Given the description of an element on the screen output the (x, y) to click on. 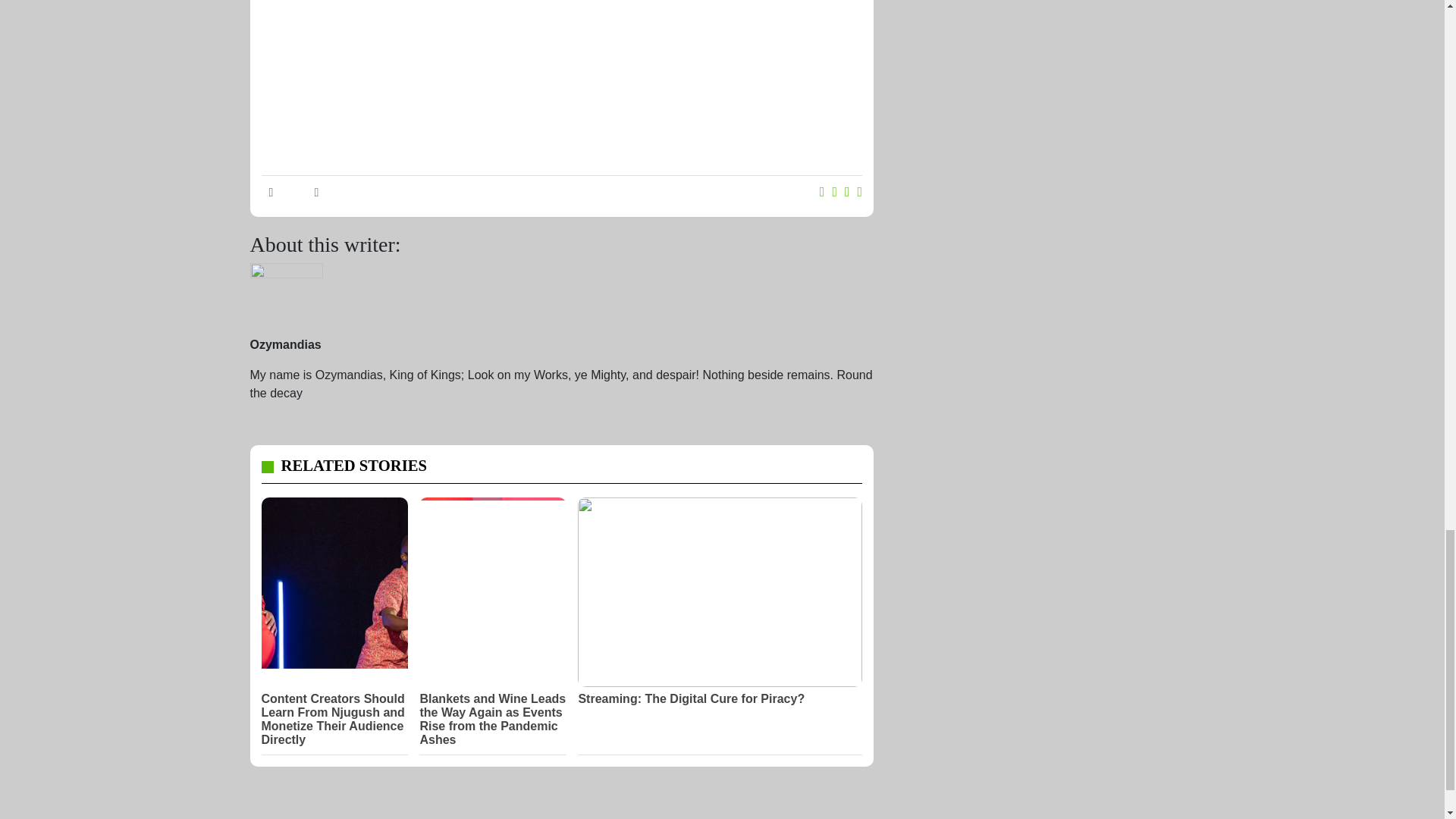
Streaming: The Digital Cure for Piracy? (719, 698)
